Given the description of an element on the screen output the (x, y) to click on. 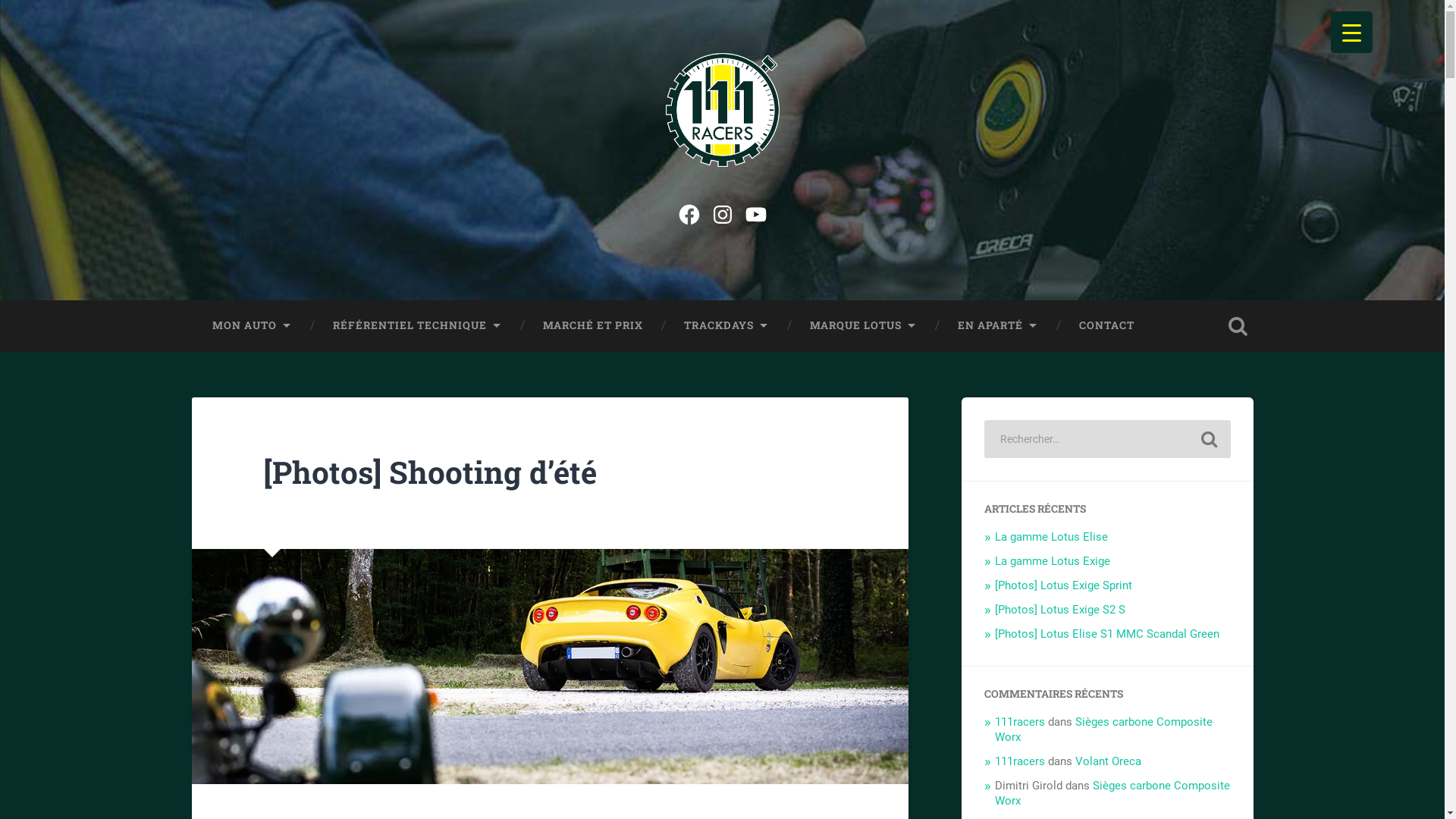
[Photos] Lotus Exige S2 S Element type: text (1059, 609)
Rechercher Element type: text (1208, 438)
La gamme Lotus Exige Element type: text (1052, 560)
MARQUE LOTUS Element type: text (862, 325)
MON AUTO Element type: text (251, 325)
[Photos] Lotus Exige Sprint Element type: text (1063, 585)
La gamme Lotus Elise Element type: text (1050, 536)
Volant Oreca Element type: text (1108, 761)
Instagram Element type: text (721, 211)
111racers Element type: text (1019, 721)
Facebook Element type: text (688, 211)
TRACKDAYS Element type: text (725, 325)
Ouvrir la recherche Element type: text (1237, 325)
[Photos] Lotus Elise S1 MMC Scandal Green Element type: text (1106, 633)
CONTACT Element type: text (1106, 325)
111racers Element type: text (1019, 761)
YouTube Element type: text (755, 211)
111racers Element type: text (247, 199)
